Given the description of an element on the screen output the (x, y) to click on. 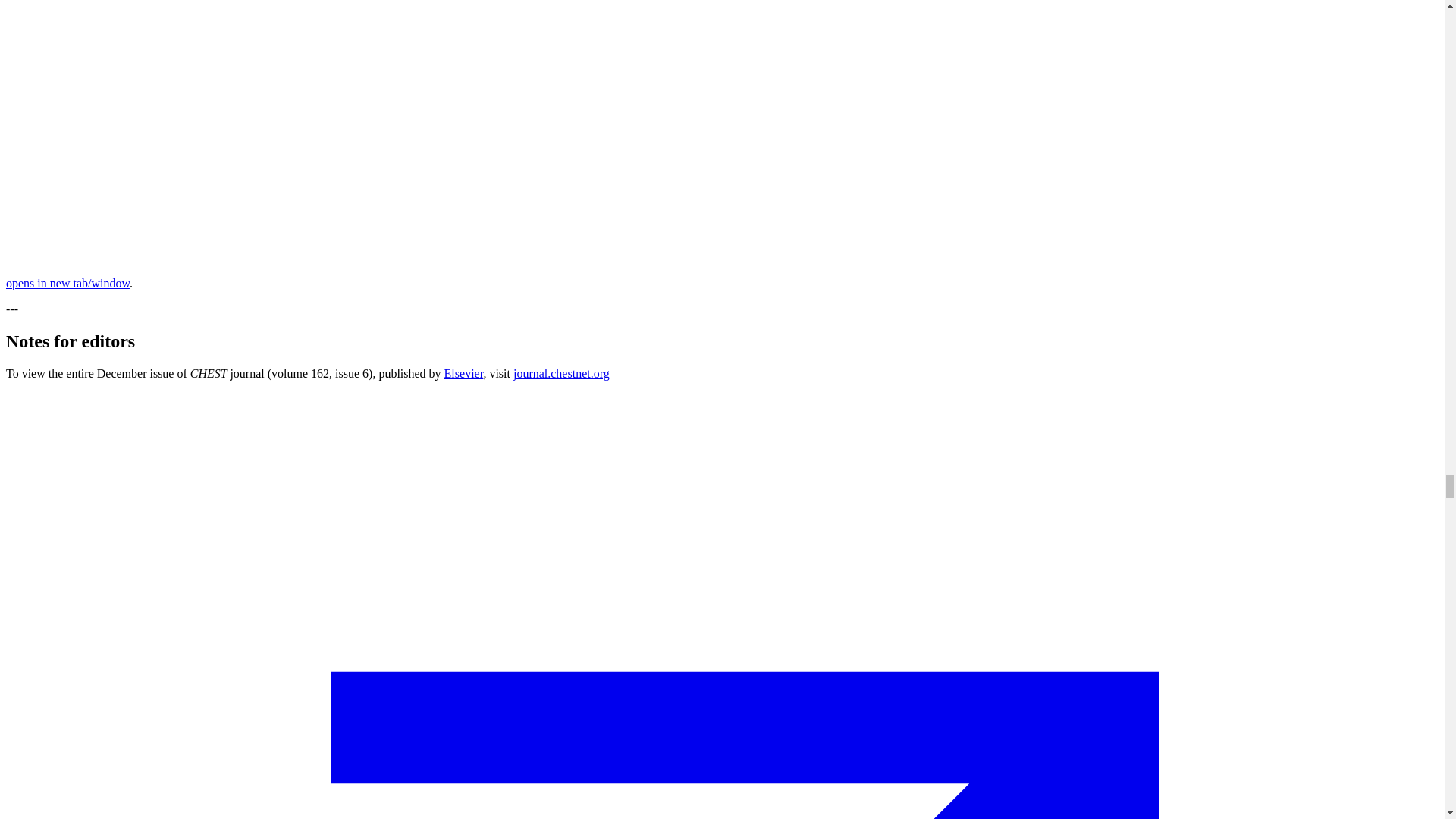
Elsevier (463, 373)
